Given the description of an element on the screen output the (x, y) to click on. 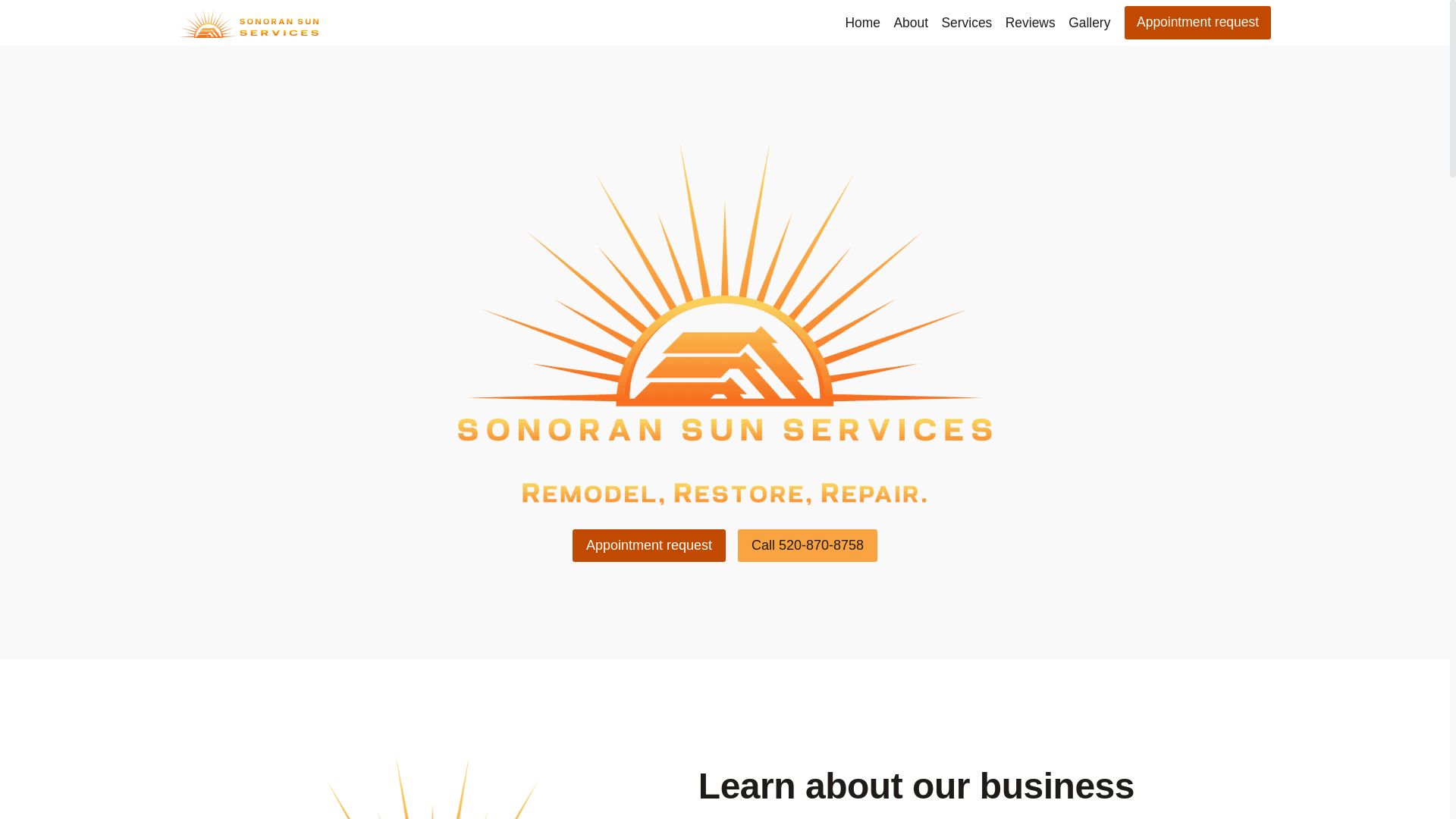
Services (966, 23)
Appointment request (1197, 22)
About (910, 23)
Call 520-870-8758 (807, 545)
Gallery (1088, 23)
Reviews (1029, 23)
Home (862, 23)
Appointment request (648, 545)
